Given the description of an element on the screen output the (x, y) to click on. 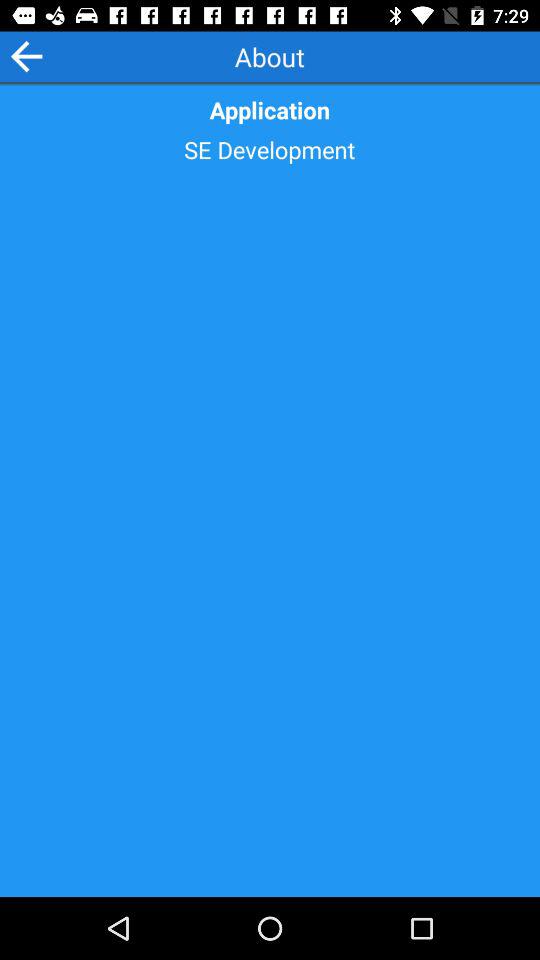
choose the item next to the application app (26, 56)
